Given the description of an element on the screen output the (x, y) to click on. 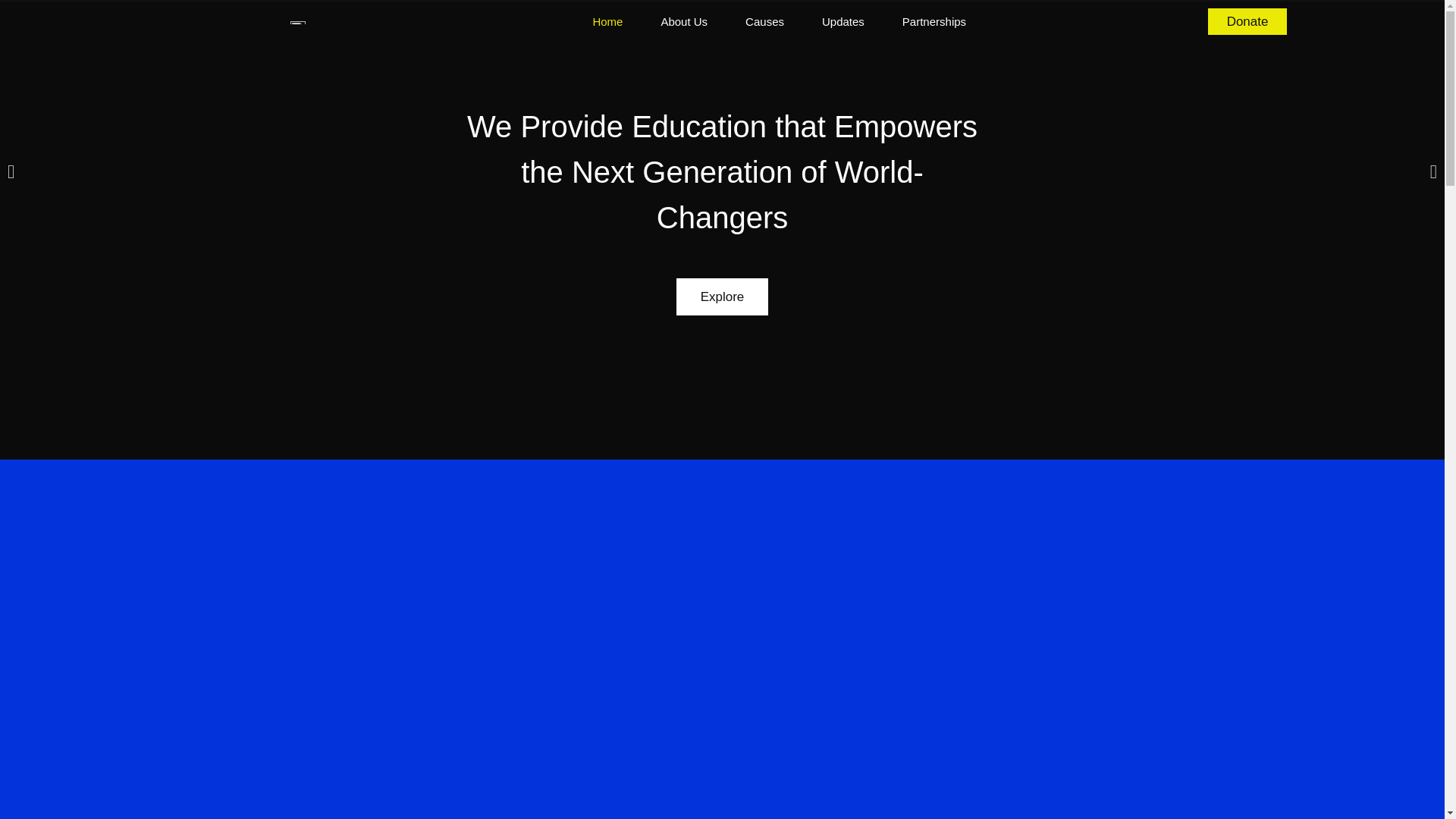
Causes (764, 21)
Home (607, 21)
About Us (684, 21)
Partnerships (934, 21)
Explore (722, 296)
Updates (843, 21)
Donate (1247, 21)
